Given the description of an element on the screen output the (x, y) to click on. 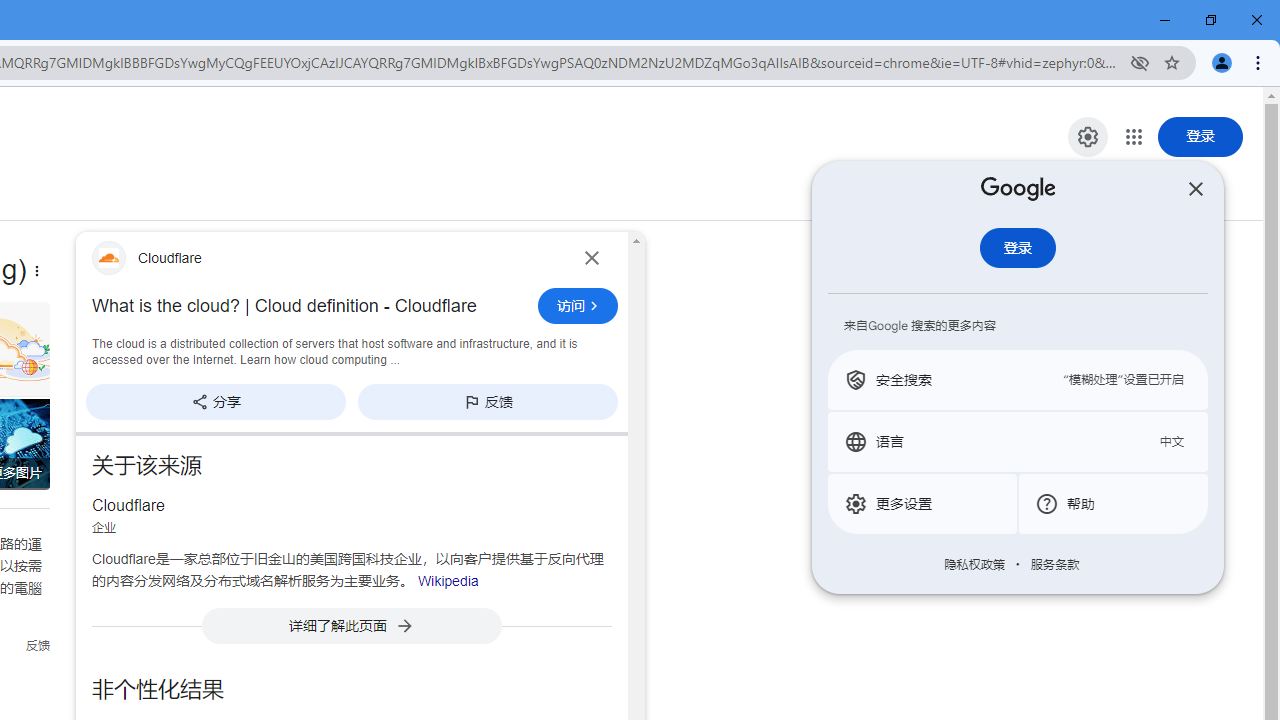
What is the cloud? | Cloud definition - Cloudflare (309, 305)
